Given the description of an element on the screen output the (x, y) to click on. 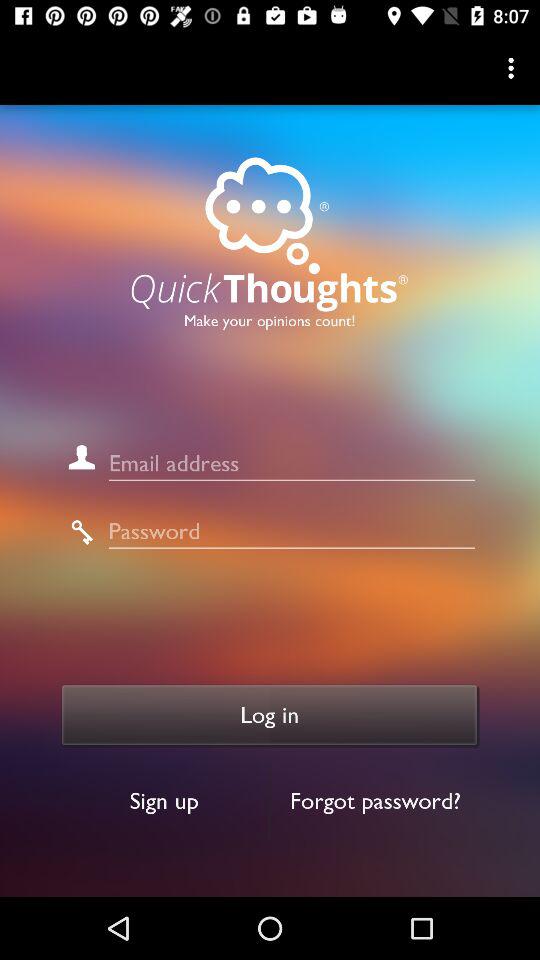
jump to sign up icon (164, 800)
